Given the description of an element on the screen output the (x, y) to click on. 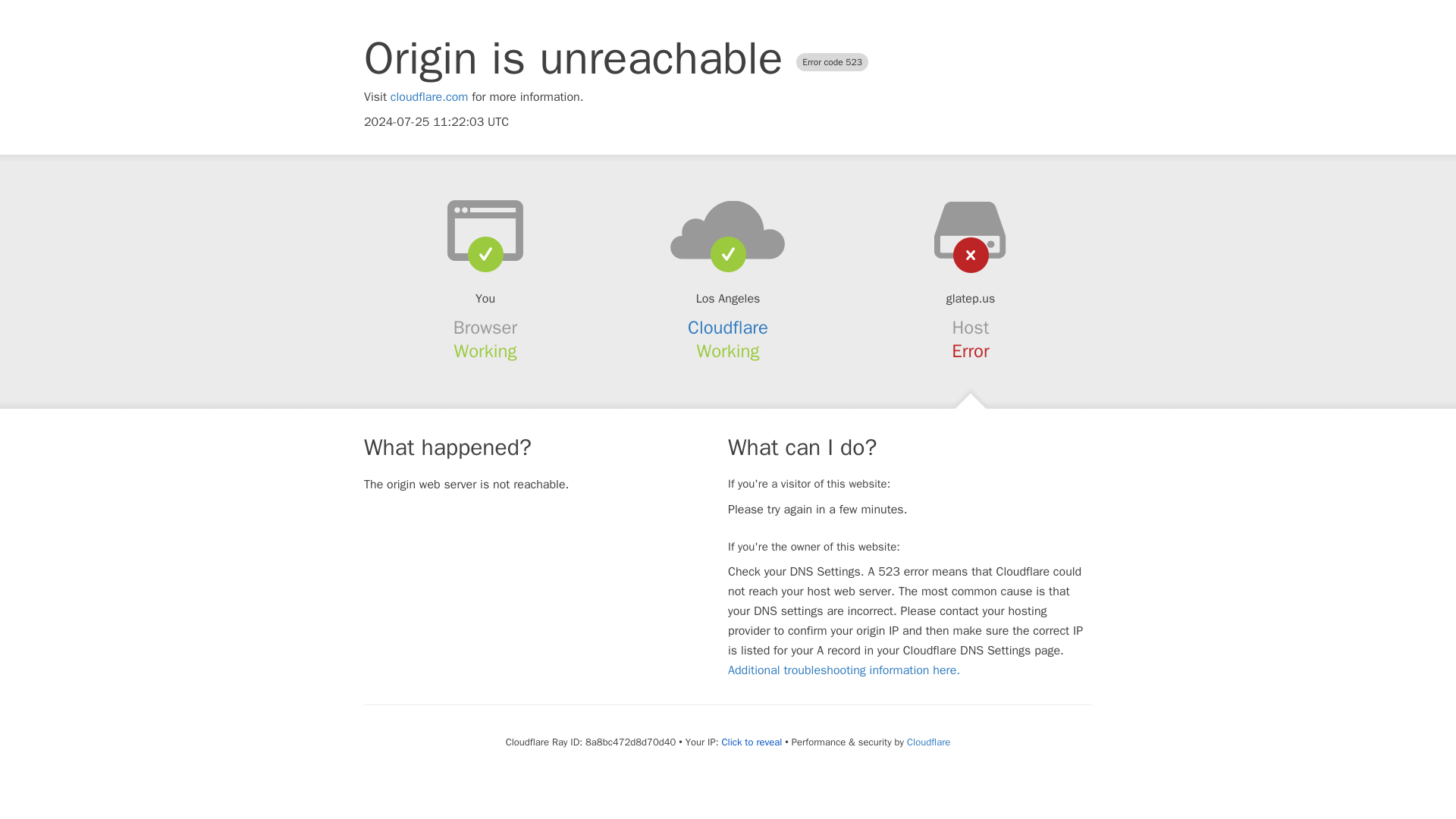
cloudflare.com (429, 96)
Cloudflare (727, 327)
Cloudflare (928, 741)
Additional troubleshooting information here. (843, 670)
Click to reveal (750, 742)
